Given the description of an element on the screen output the (x, y) to click on. 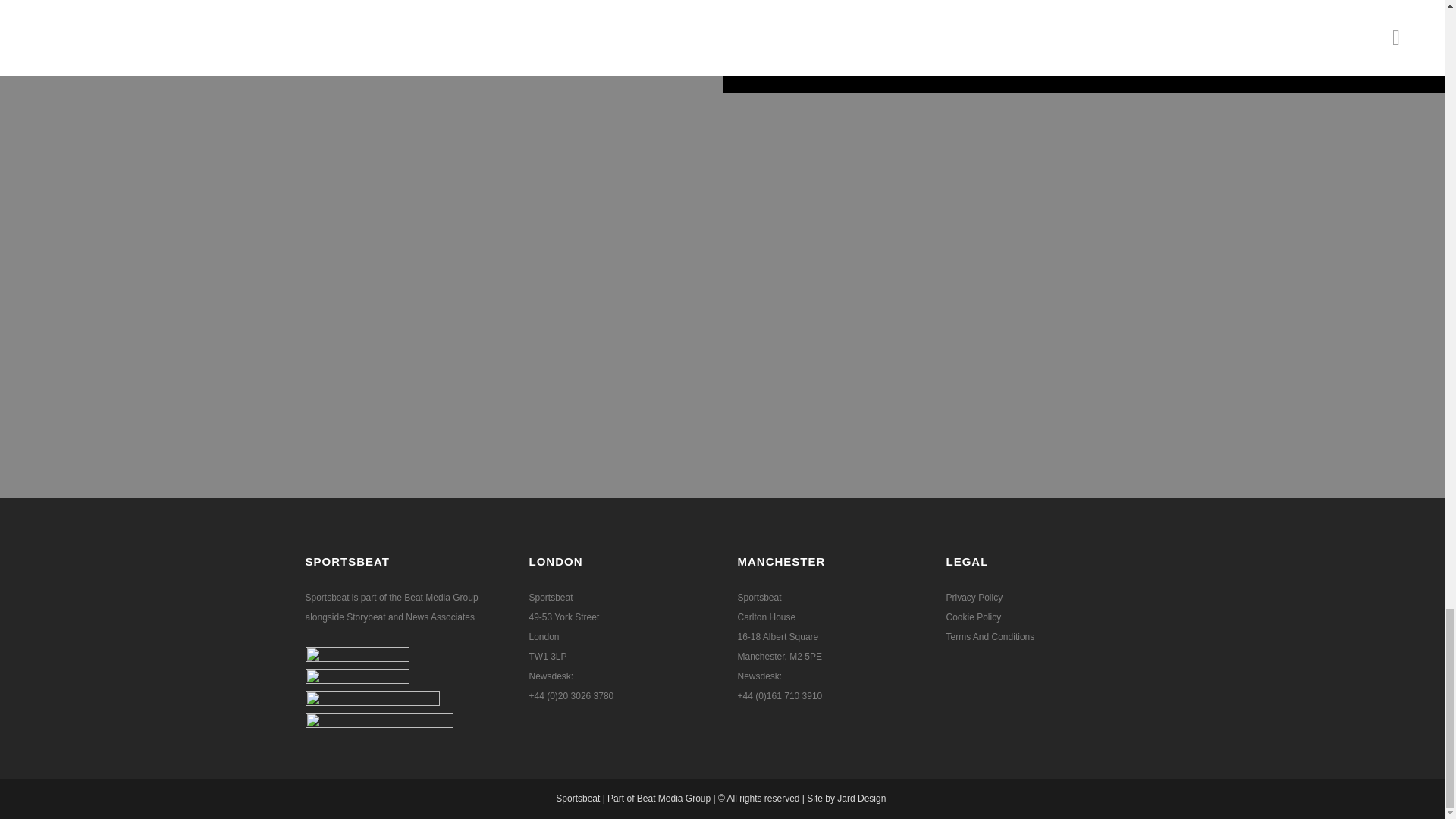
Beat Media Group (440, 597)
Privacy Policy (974, 597)
Jard Design  (862, 798)
Beat Media Group (673, 798)
Cookie Policy (973, 616)
Terms And Conditions (990, 636)
News Associates (440, 616)
Storybeat (367, 616)
Sportsbeat (577, 798)
